Given the description of an element on the screen output the (x, y) to click on. 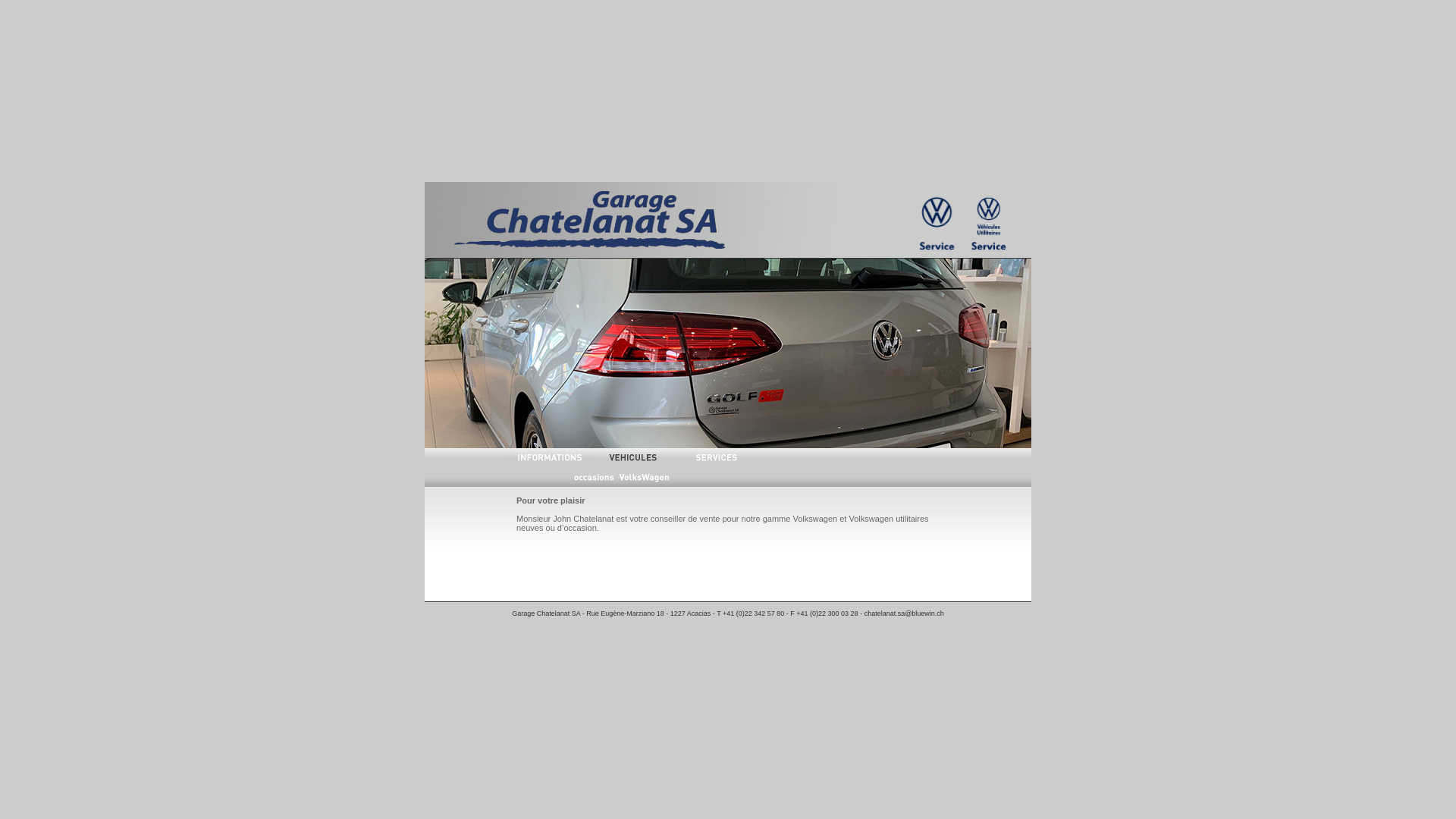
chatelanat.sa@bluewin.ch Element type: text (904, 613)
